Given the description of an element on the screen output the (x, y) to click on. 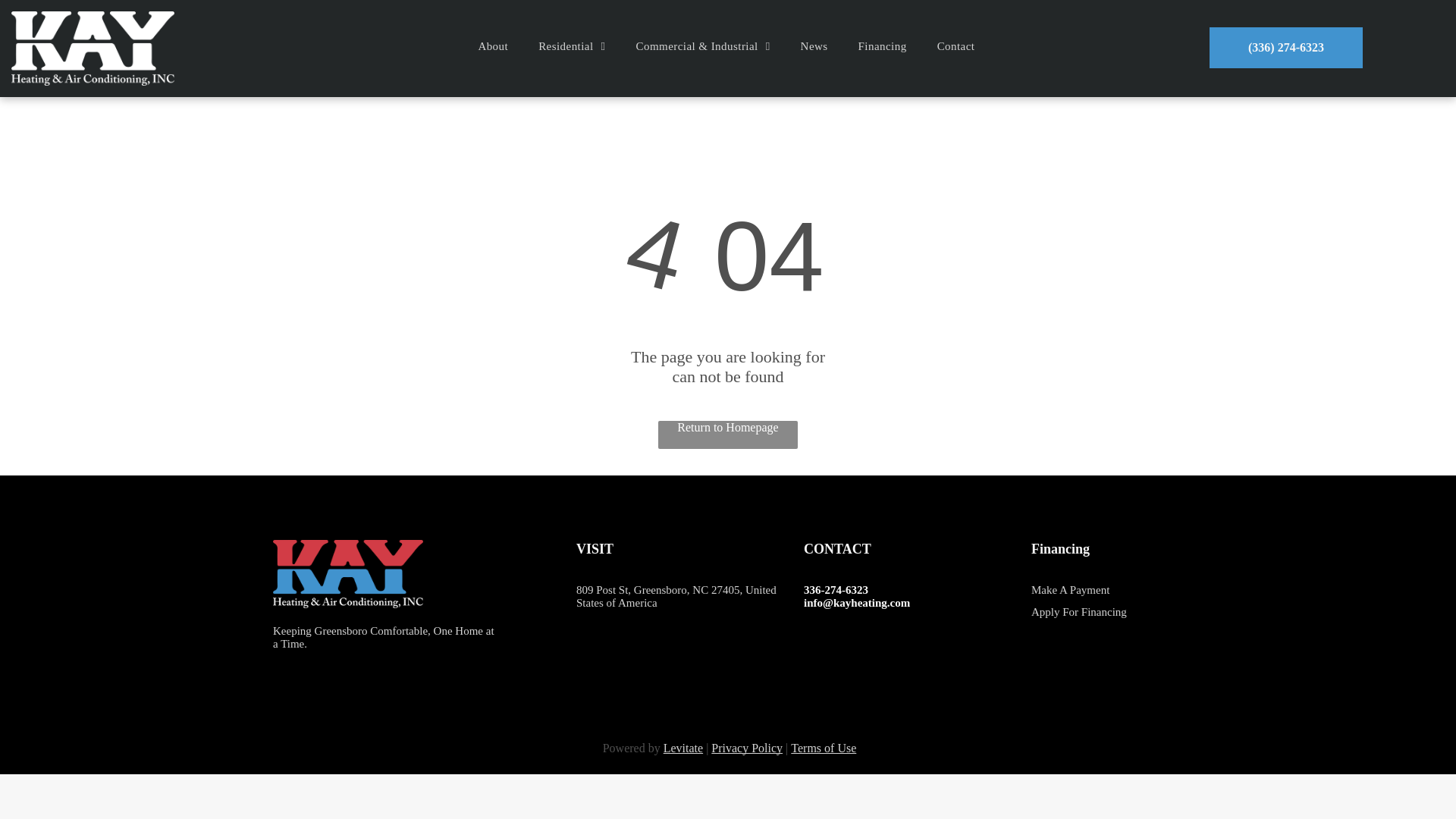
Residential (571, 46)
336-274-6323 (835, 589)
News (814, 46)
Privacy Policy (747, 748)
Make A Payment (1069, 589)
About (492, 46)
Terms of Use (823, 748)
Apply For Financing (1078, 612)
Contact (955, 46)
Financing (882, 46)
Return to Homepage (727, 434)
Levitate (683, 748)
